Given the description of an element on the screen output the (x, y) to click on. 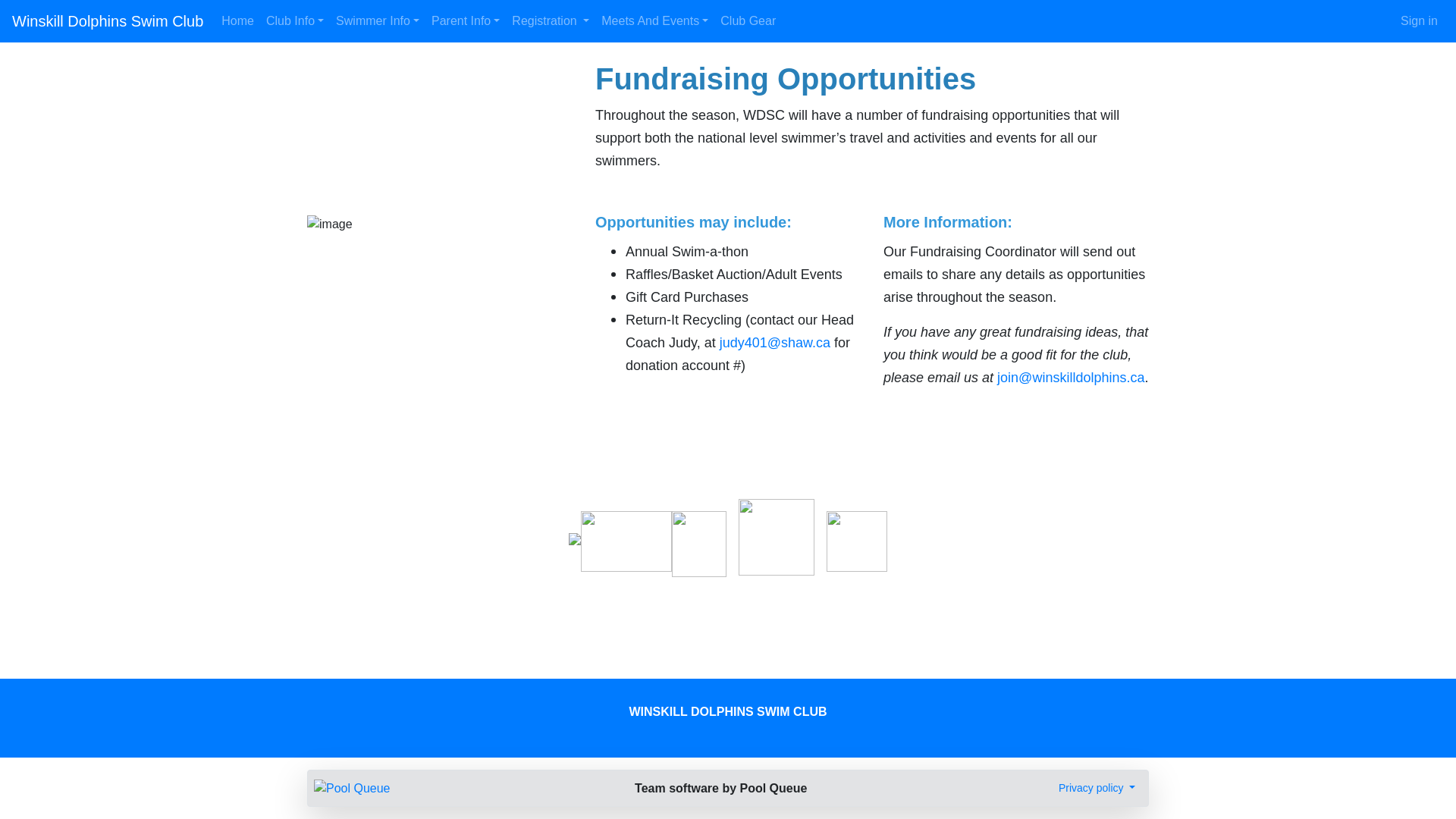
Club Info (295, 20)
Home (237, 20)
Registration (550, 20)
Meets And Events (654, 20)
Parent Info (465, 20)
Swimmer Info (377, 20)
Club Gear (747, 20)
Winskill Dolphins Swim Club (107, 20)
Sign in (1419, 20)
Team software by Pool Queue (720, 787)
